Given the description of an element on the screen output the (x, y) to click on. 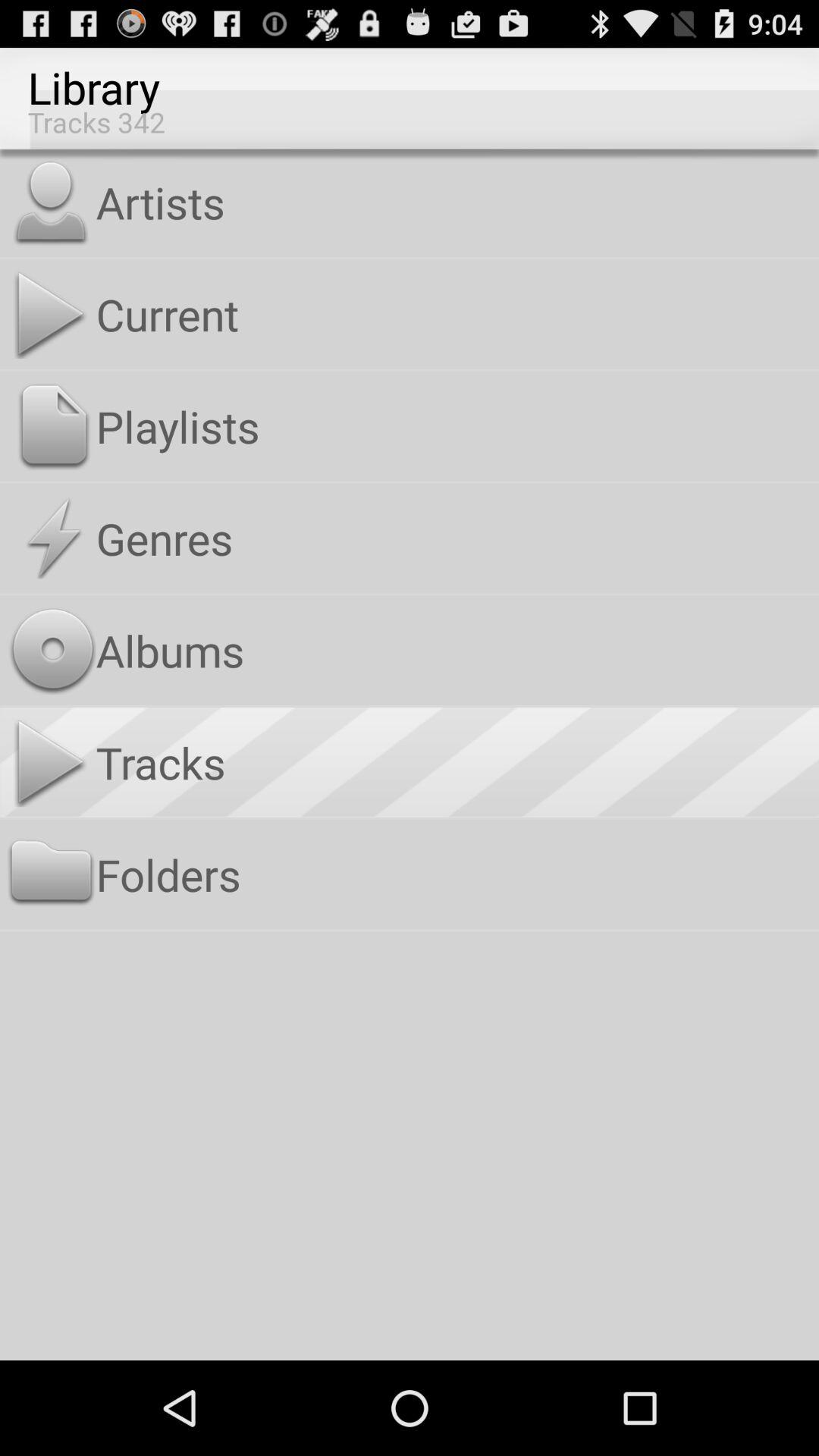
swipe until the genres app (454, 538)
